Given the description of an element on the screen output the (x, y) to click on. 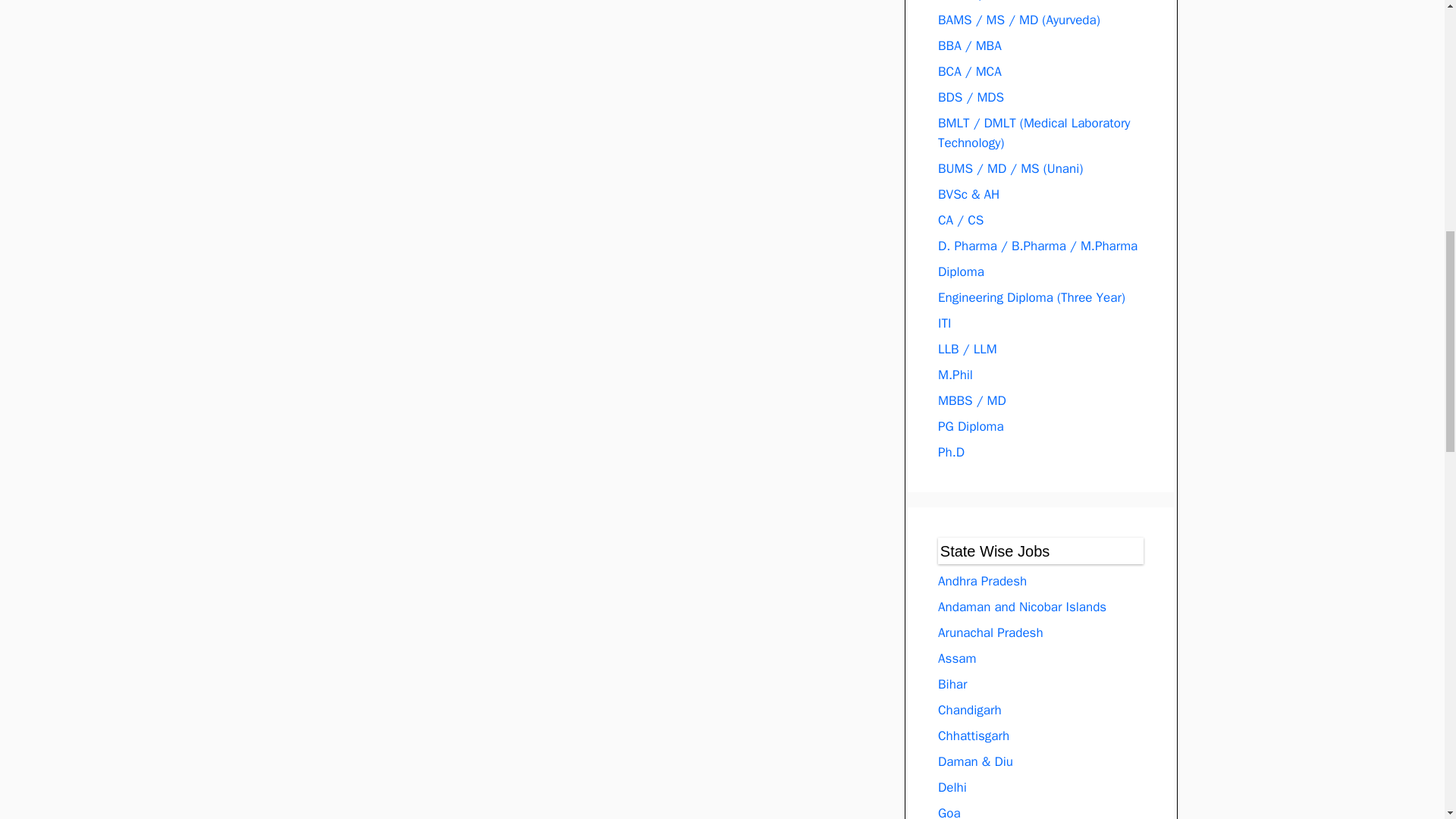
Scroll back to top (1406, 720)
